Given the description of an element on the screen output the (x, y) to click on. 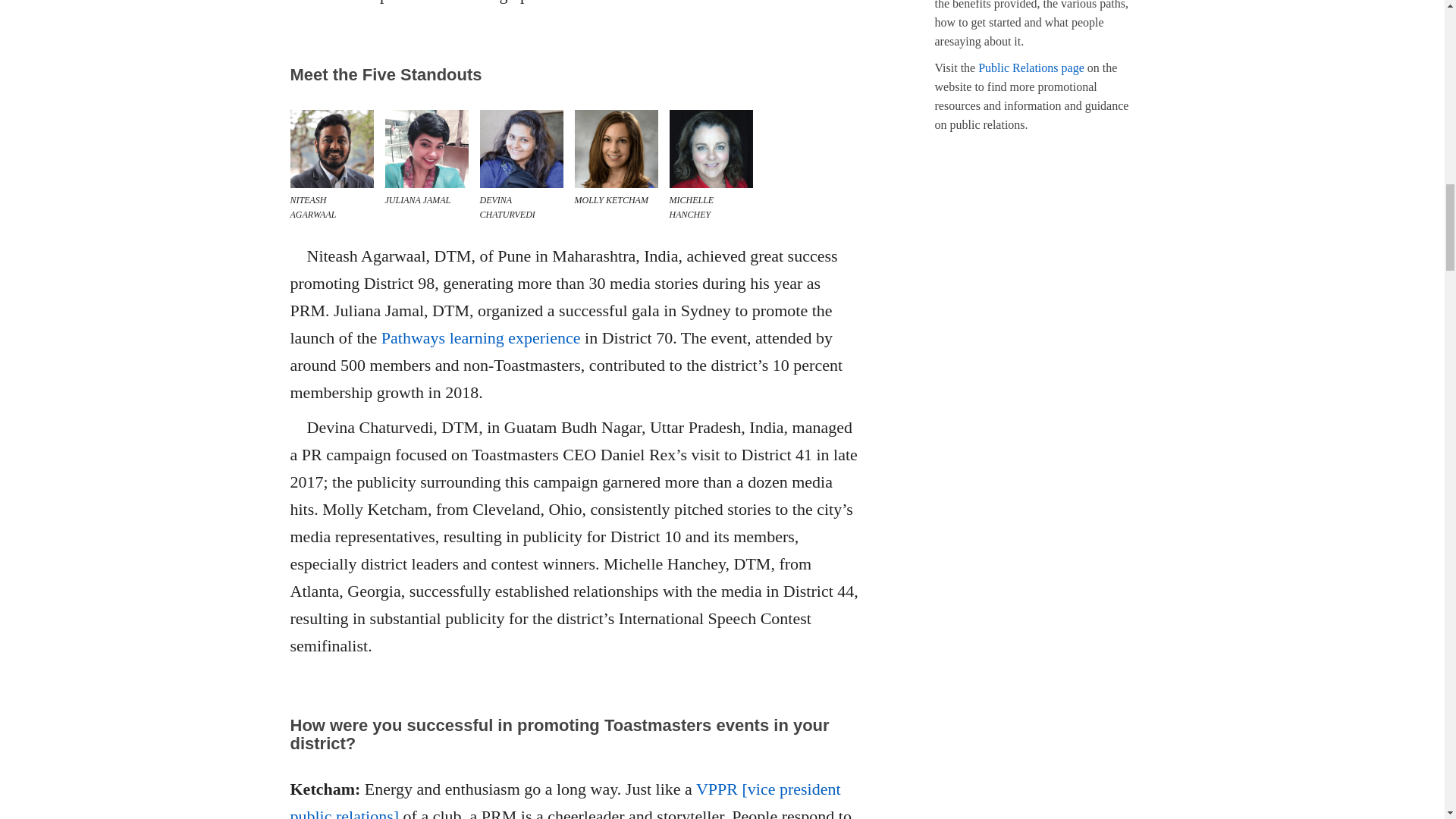
Pathways learning experience (480, 337)
